Given the description of an element on the screen output the (x, y) to click on. 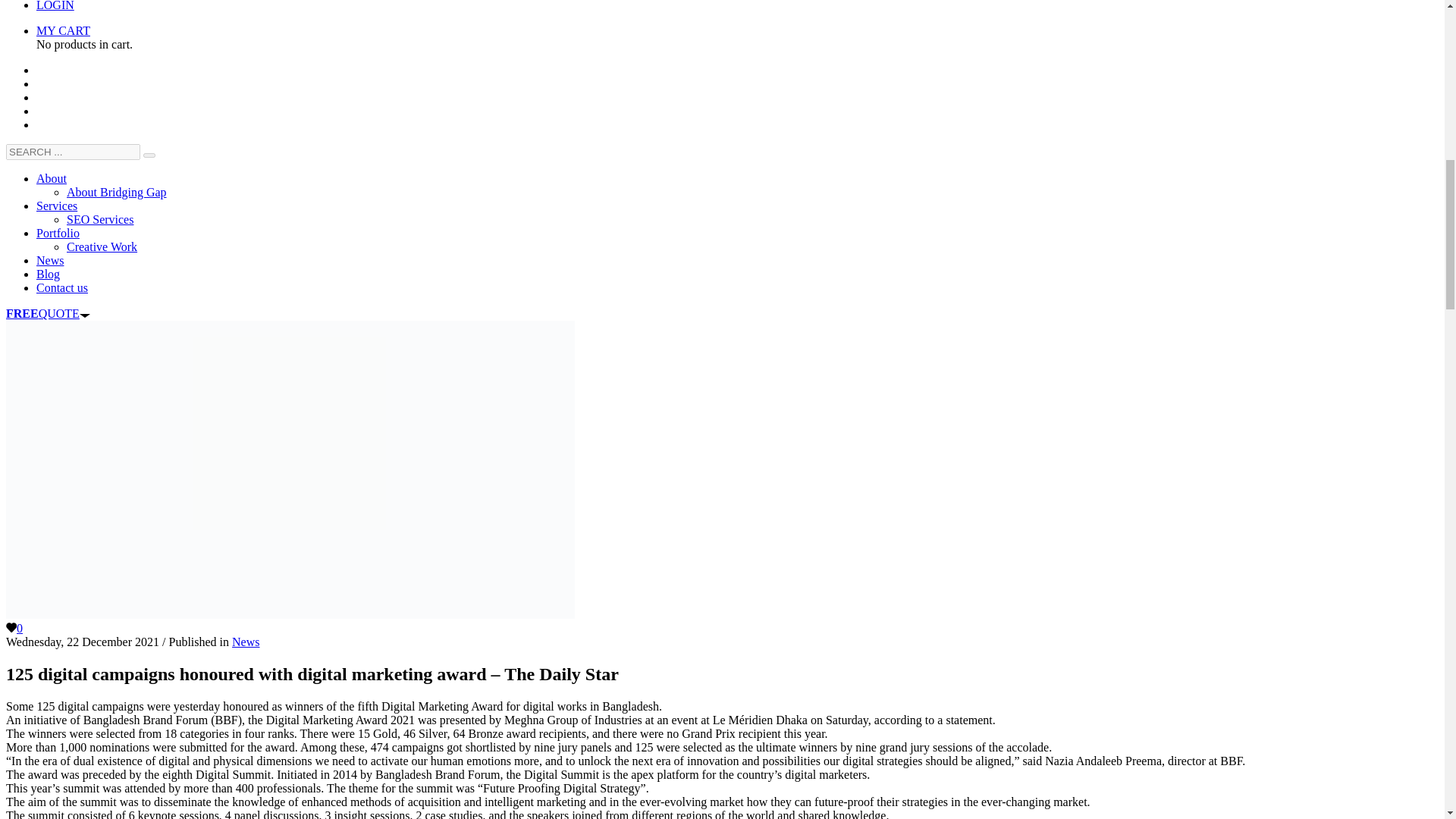
About Bridging Gap (116, 192)
Portfolio (58, 232)
View your shopping cart (63, 30)
go (148, 155)
Services (56, 205)
Blog (47, 273)
SEO Services (99, 219)
MY CART (63, 30)
News (245, 641)
0 (14, 627)
Creative Work (101, 246)
FREEQUOTE (47, 313)
News (50, 259)
About (51, 178)
LOGIN (55, 5)
